Given the description of an element on the screen output the (x, y) to click on. 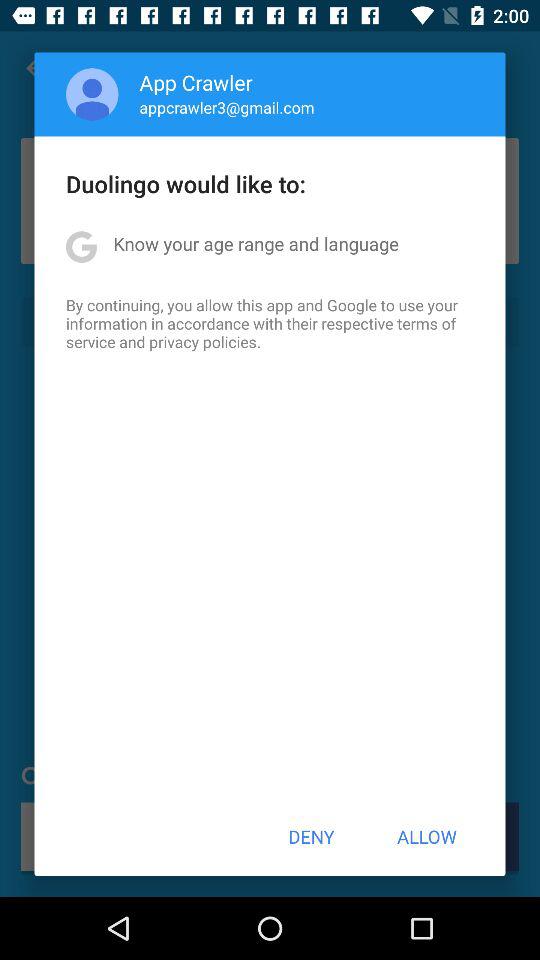
tap the icon to the left of app crawler item (92, 94)
